Given the description of an element on the screen output the (x, y) to click on. 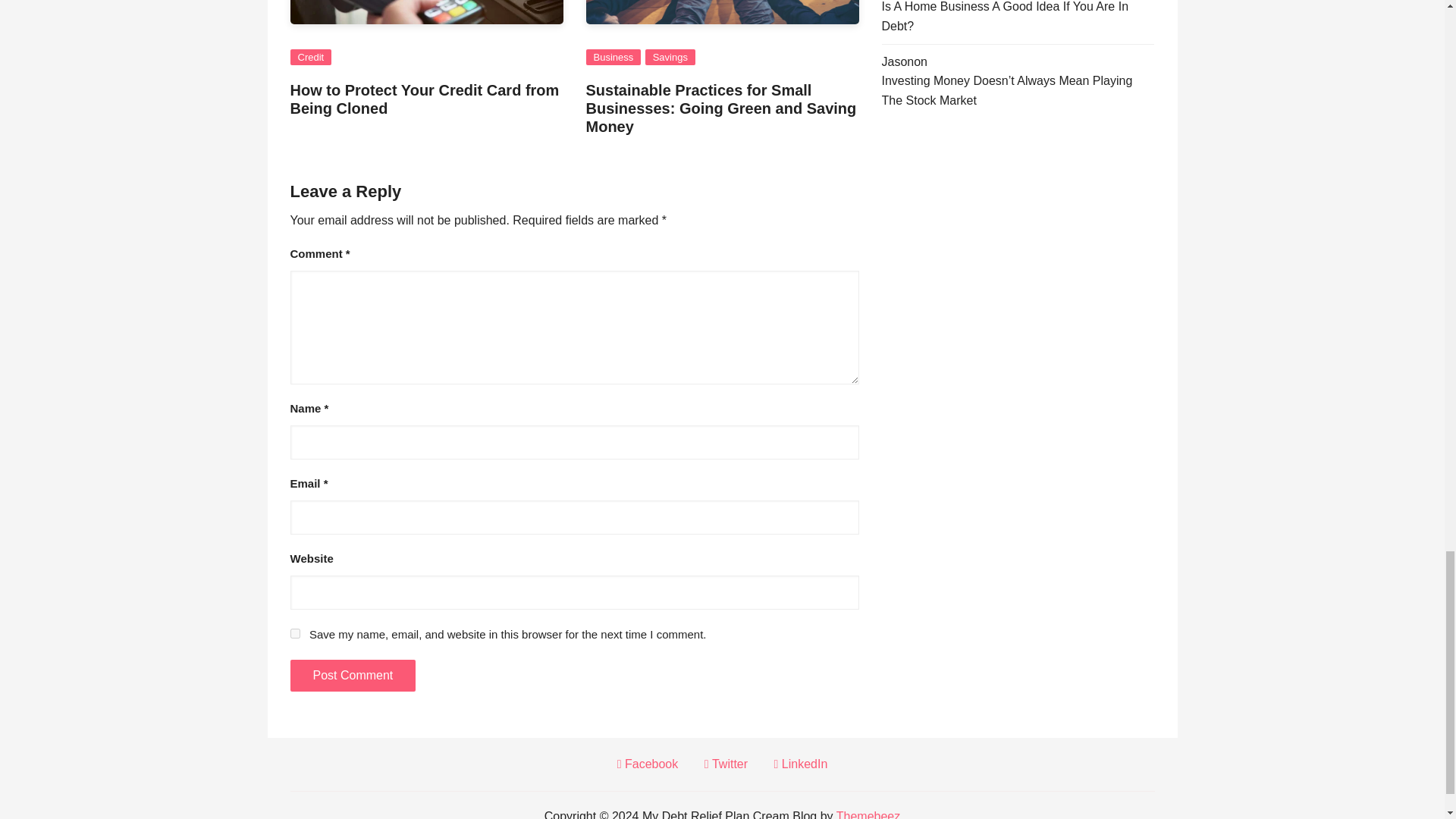
Post Comment (351, 675)
Credit (310, 57)
yes (294, 633)
